Given the description of an element on the screen output the (x, y) to click on. 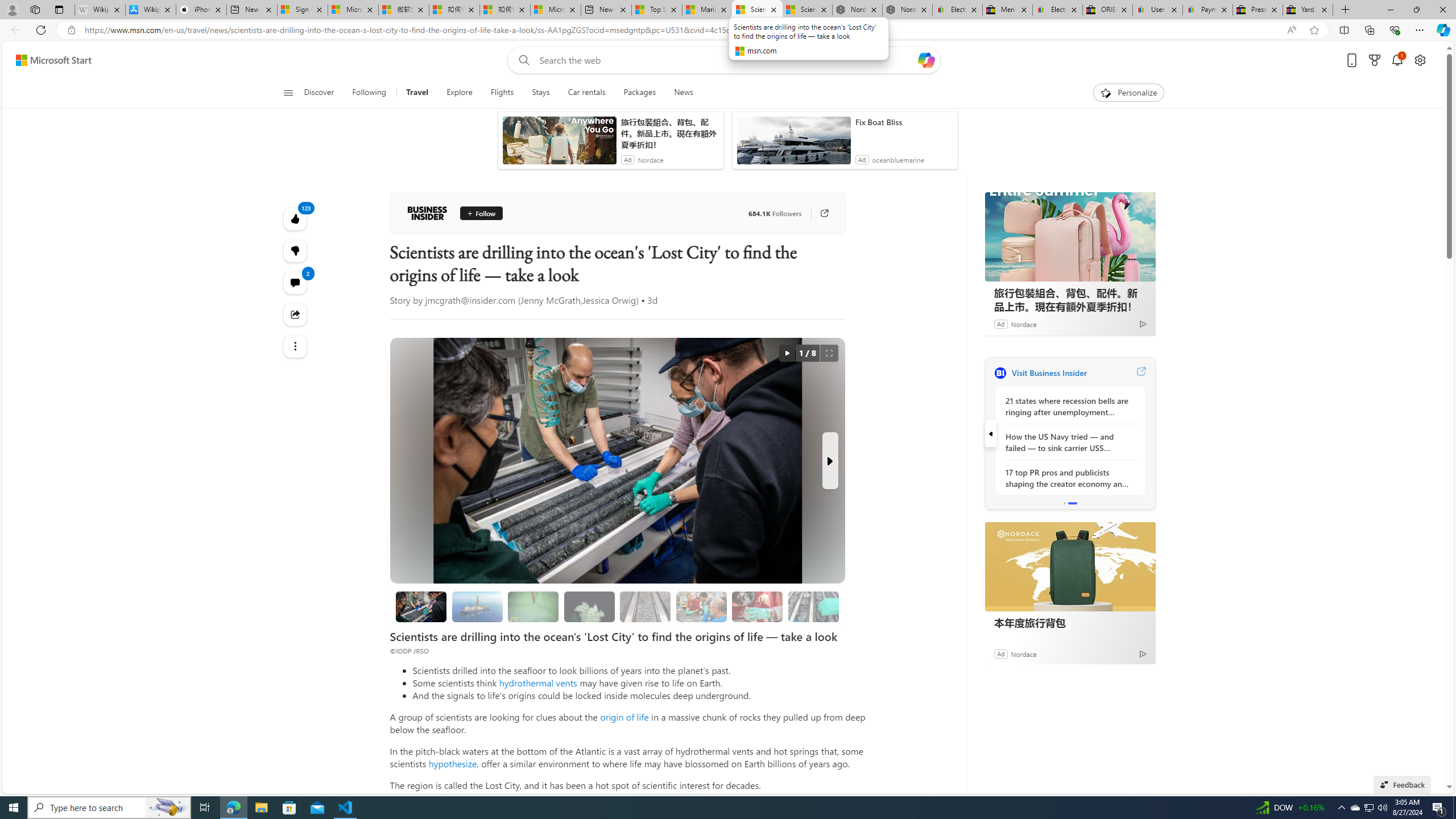
Personalize (1128, 92)
oceanbluemarine (898, 159)
Car rentals (586, 92)
Class: progress (813, 604)
Full screen (828, 352)
previous (989, 433)
